Given the description of an element on the screen output the (x, y) to click on. 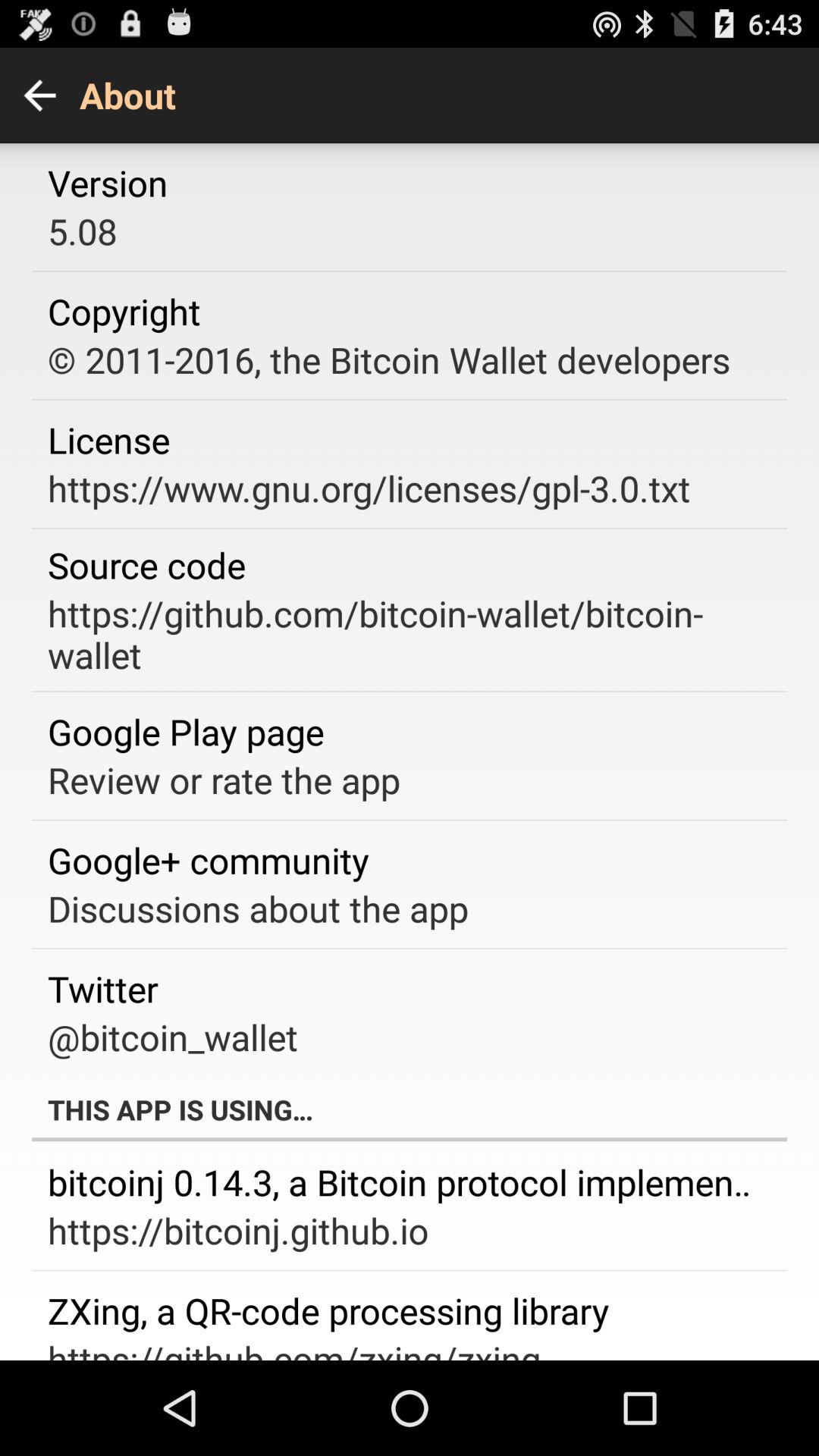
select the source code app (146, 564)
